Given the description of an element on the screen output the (x, y) to click on. 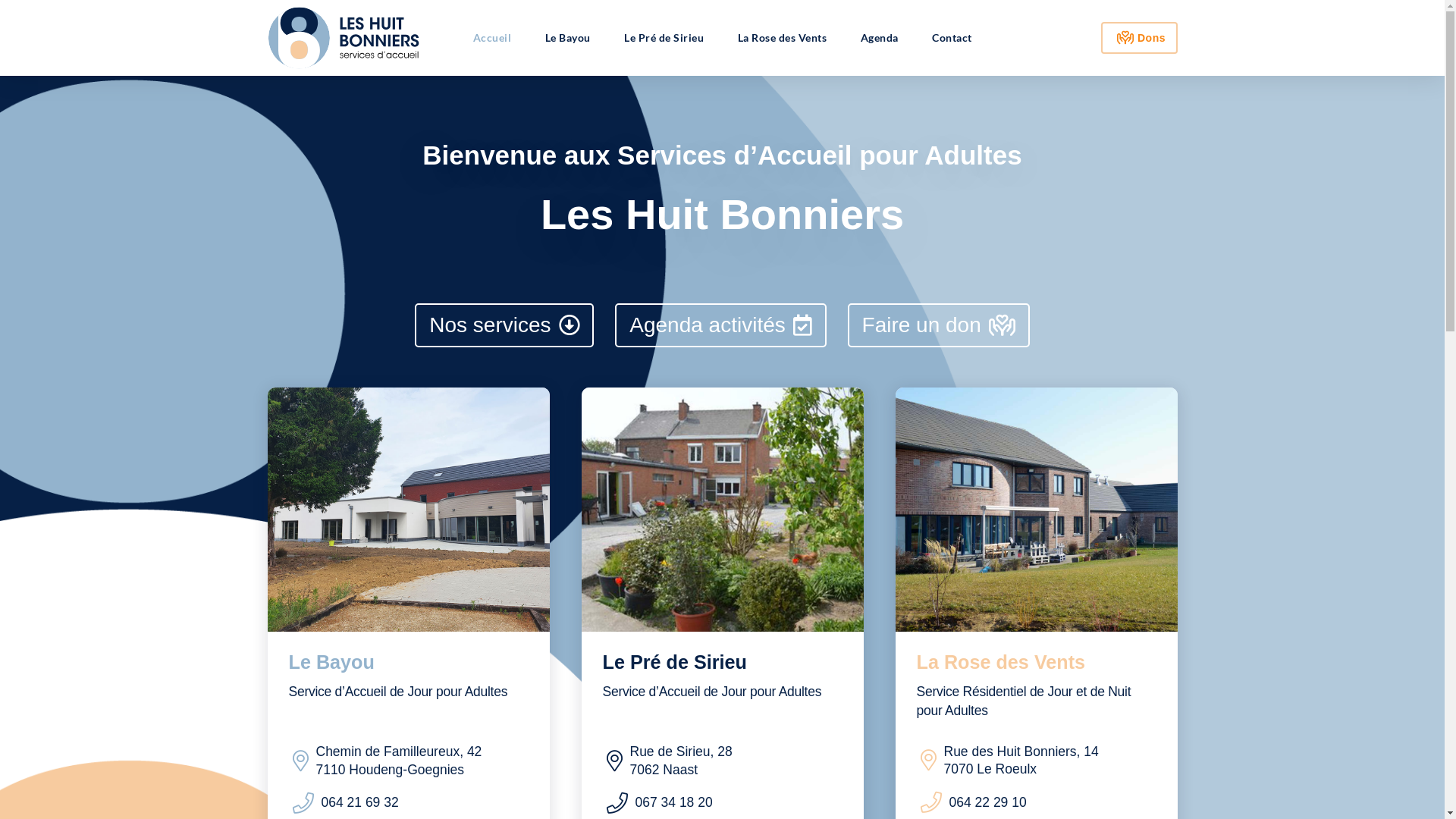
Rue de Sirieu, 28
7062 Naast Element type: text (657, 762)
Le Bayou Element type: text (566, 37)
La Rose des Vents Element type: text (781, 37)
Rue des Huit Bonniers, 14
7070 Le Roeulx Element type: text (997, 761)
Agenda Element type: text (878, 37)
Chemin de Familleureux, 42
7110 Houdeng-Goegnies Element type: text (375, 762)
Accueil Element type: text (491, 37)
Nos services Element type: text (503, 325)
Faire un don Element type: text (938, 325)
Contact Element type: text (951, 37)
Dons Element type: text (1139, 37)
